Given the description of an element on the screen output the (x, y) to click on. 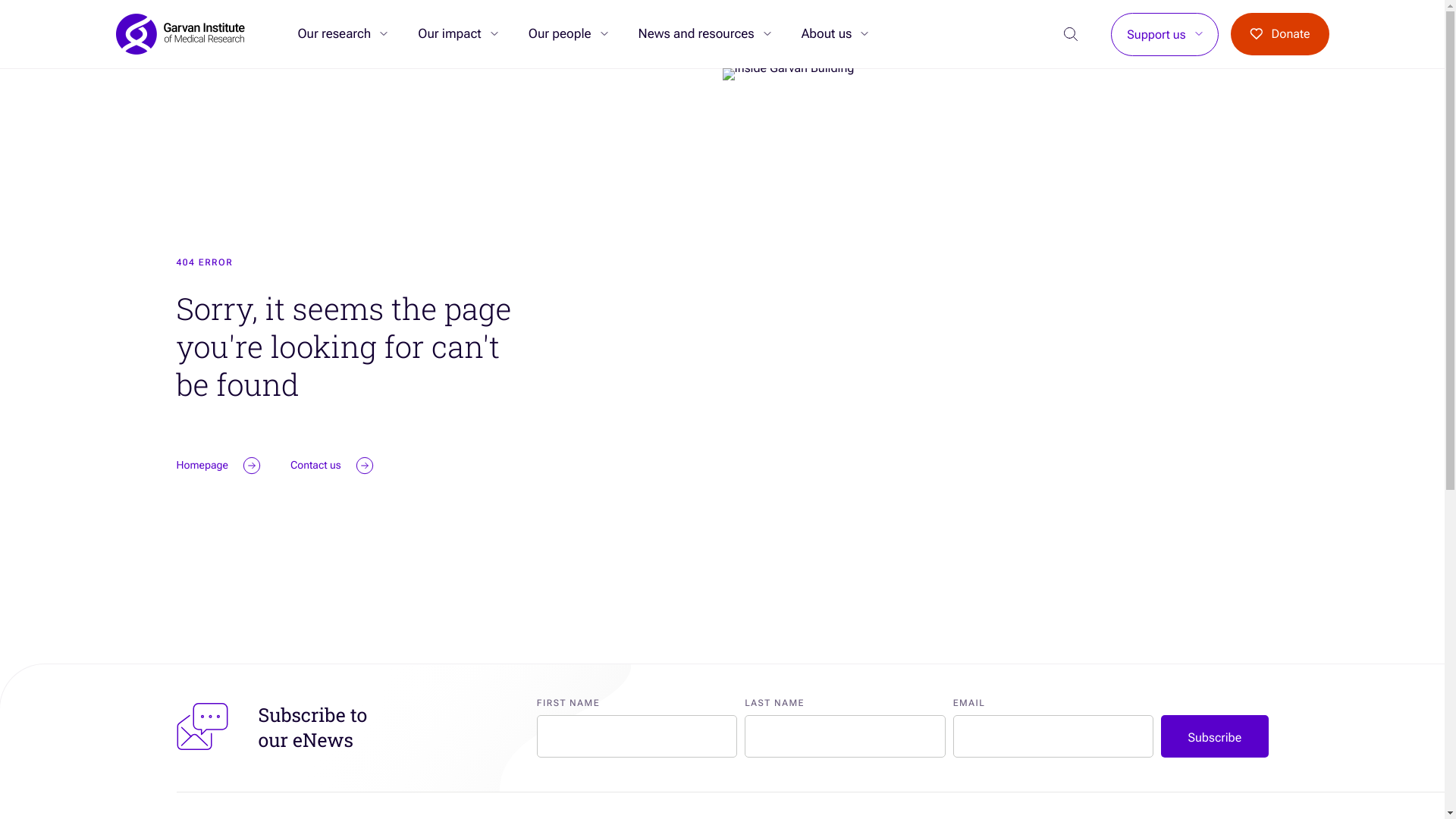
Support us Element type: text (1155, 34)
About us Element type: text (826, 33)
Contact us Element type: text (331, 465)
Our impact Element type: text (448, 33)
Subscribe Element type: text (1214, 736)
Our people Element type: text (559, 33)
Donate Element type: text (1279, 33)
Homepage Element type: text (217, 465)
News and resources Element type: text (696, 33)
Our research Element type: text (333, 33)
Submit Search Element type: text (297, 33)
